Given the description of an element on the screen output the (x, y) to click on. 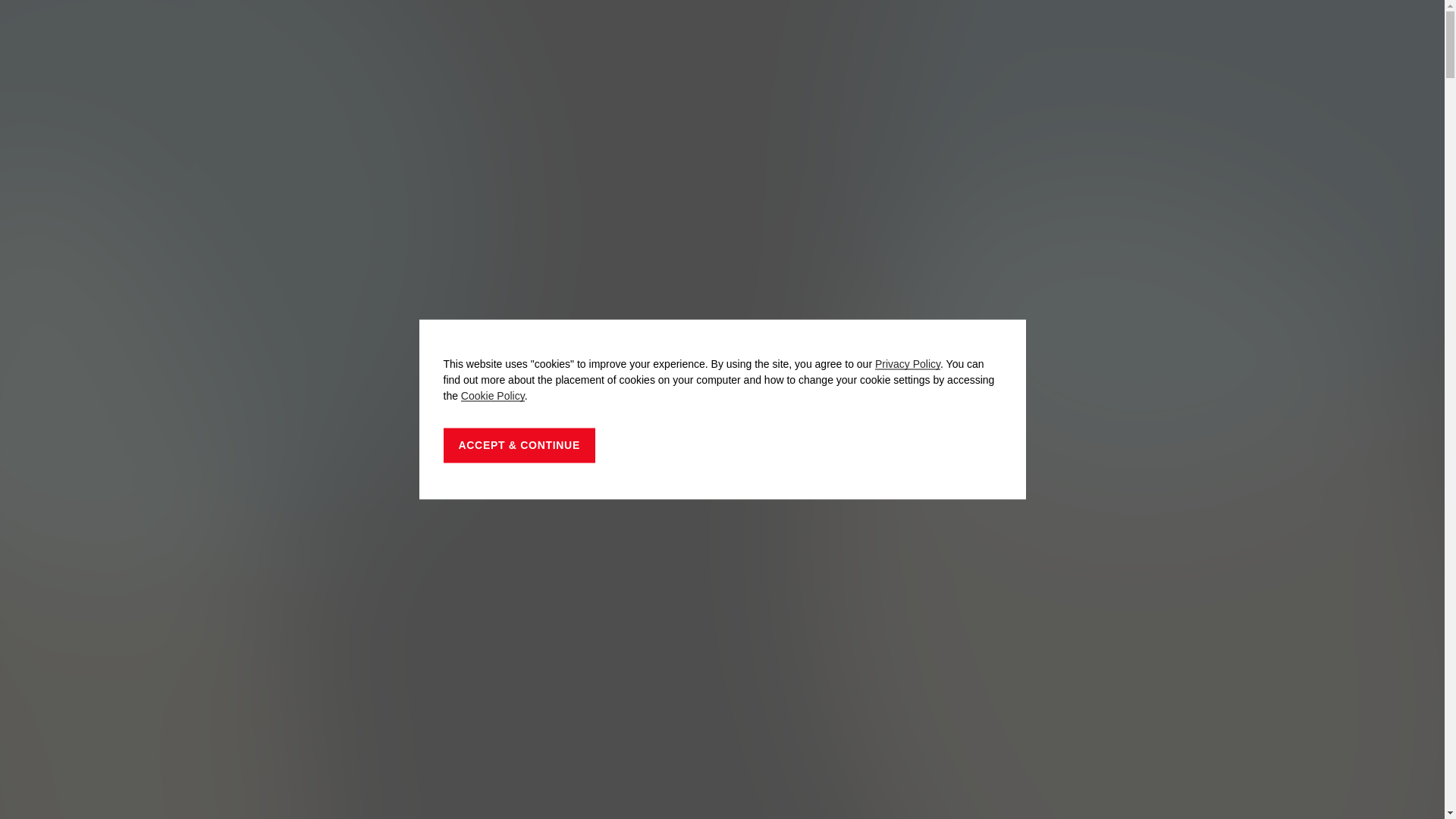
ACCEPT & CONTINUE Element type: text (518, 444)
Cookie Policy Element type: text (492, 395)
Privacy Policy Element type: text (907, 363)
